Given the description of an element on the screen output the (x, y) to click on. 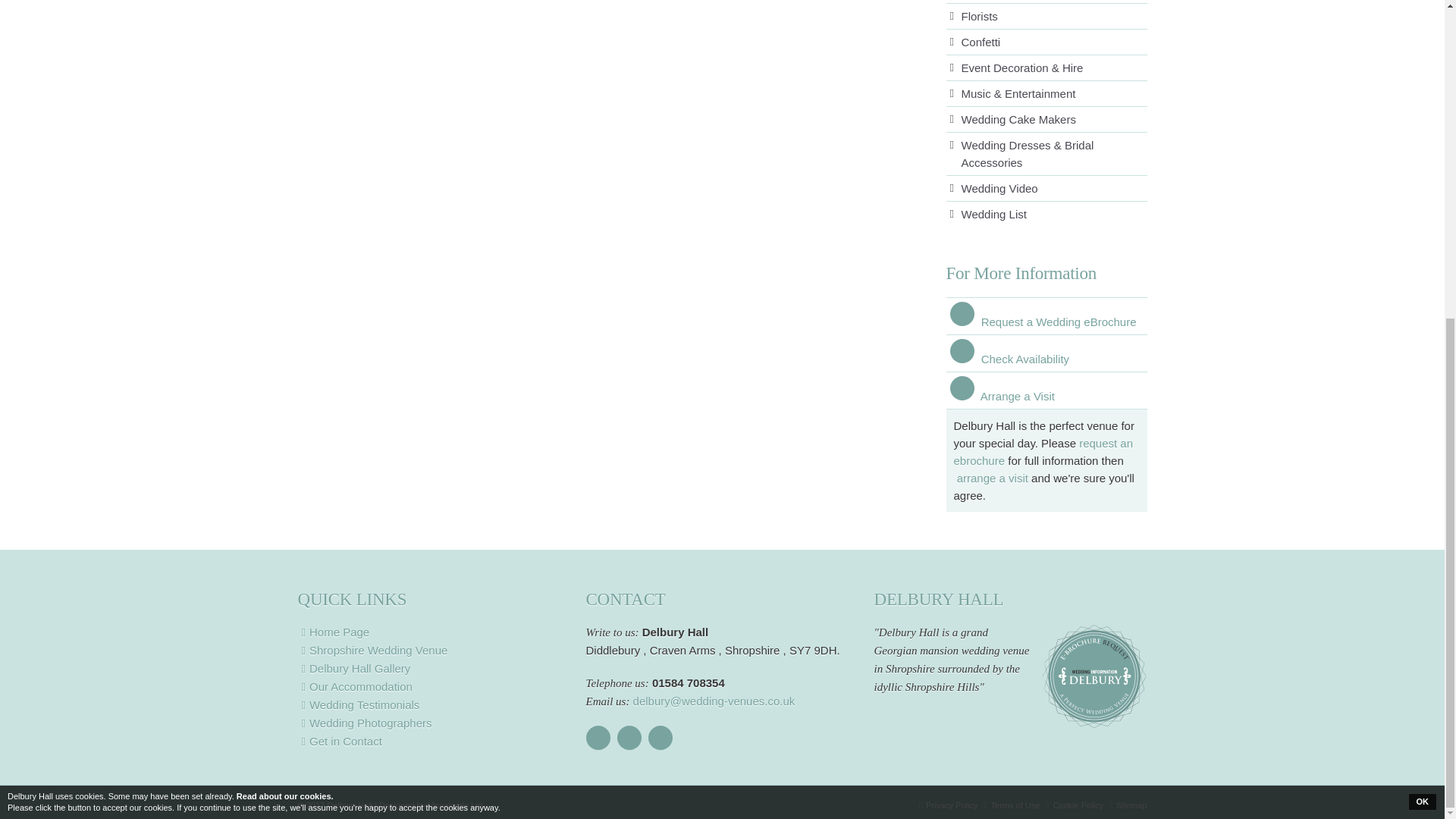
Accommodation (433, 687)
Weddings at Delbury Hall (433, 650)
Client Testimonials (433, 705)
List of Image Galleries (433, 669)
Delbury Hall (433, 632)
Contact Delbury Hall (433, 741)
